Given the description of an element on the screen output the (x, y) to click on. 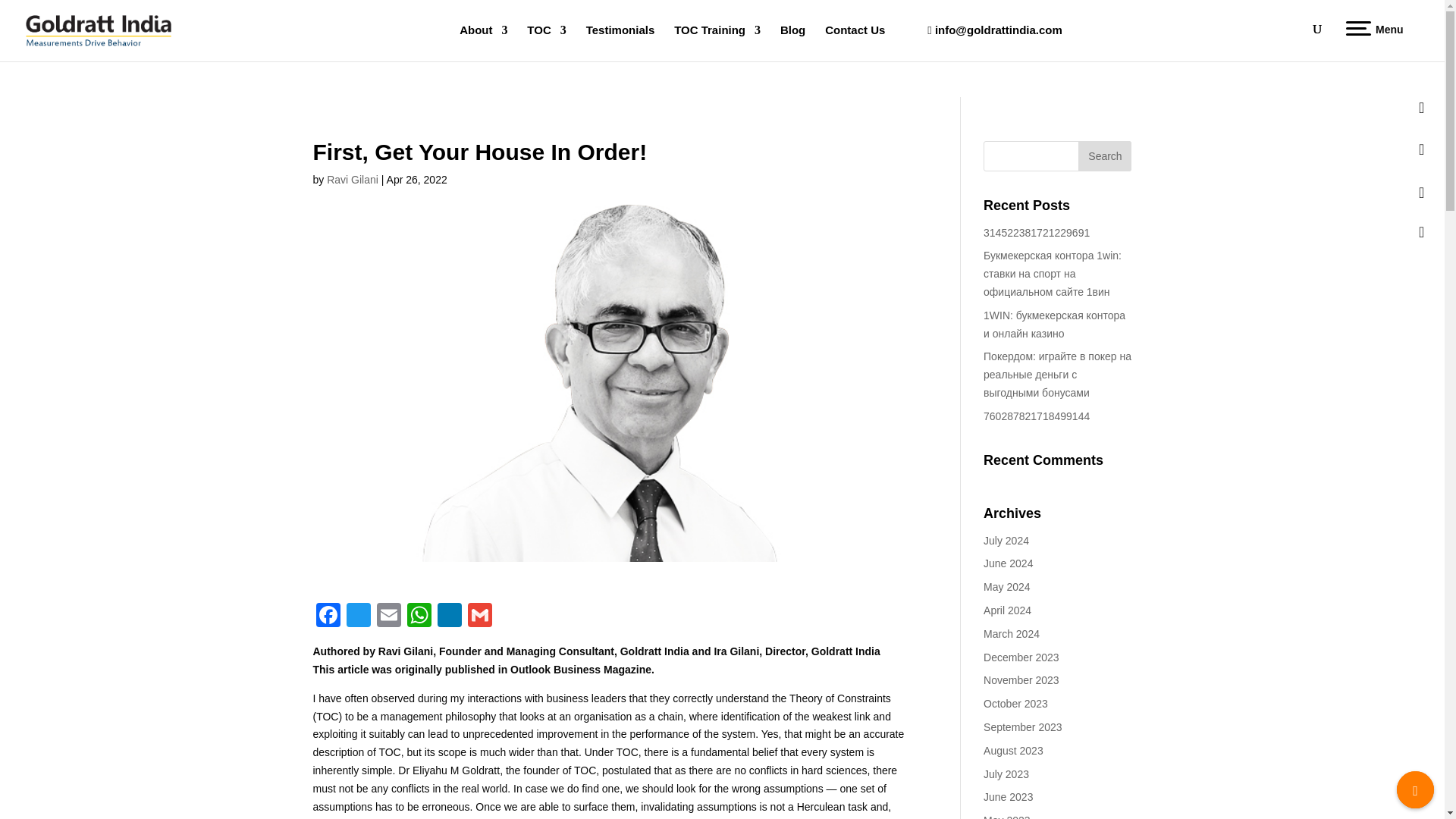
Posts by Ravi Gilani (352, 179)
Twitter (357, 616)
About (483, 42)
Testimonials (620, 42)
Gmail (479, 616)
LinkedIn (448, 616)
TOC (546, 42)
Facebook (327, 616)
Email (387, 616)
TOC Training (717, 42)
Contact Us (855, 42)
WhatsApp (418, 616)
Search (1104, 155)
